Given the description of an element on the screen output the (x, y) to click on. 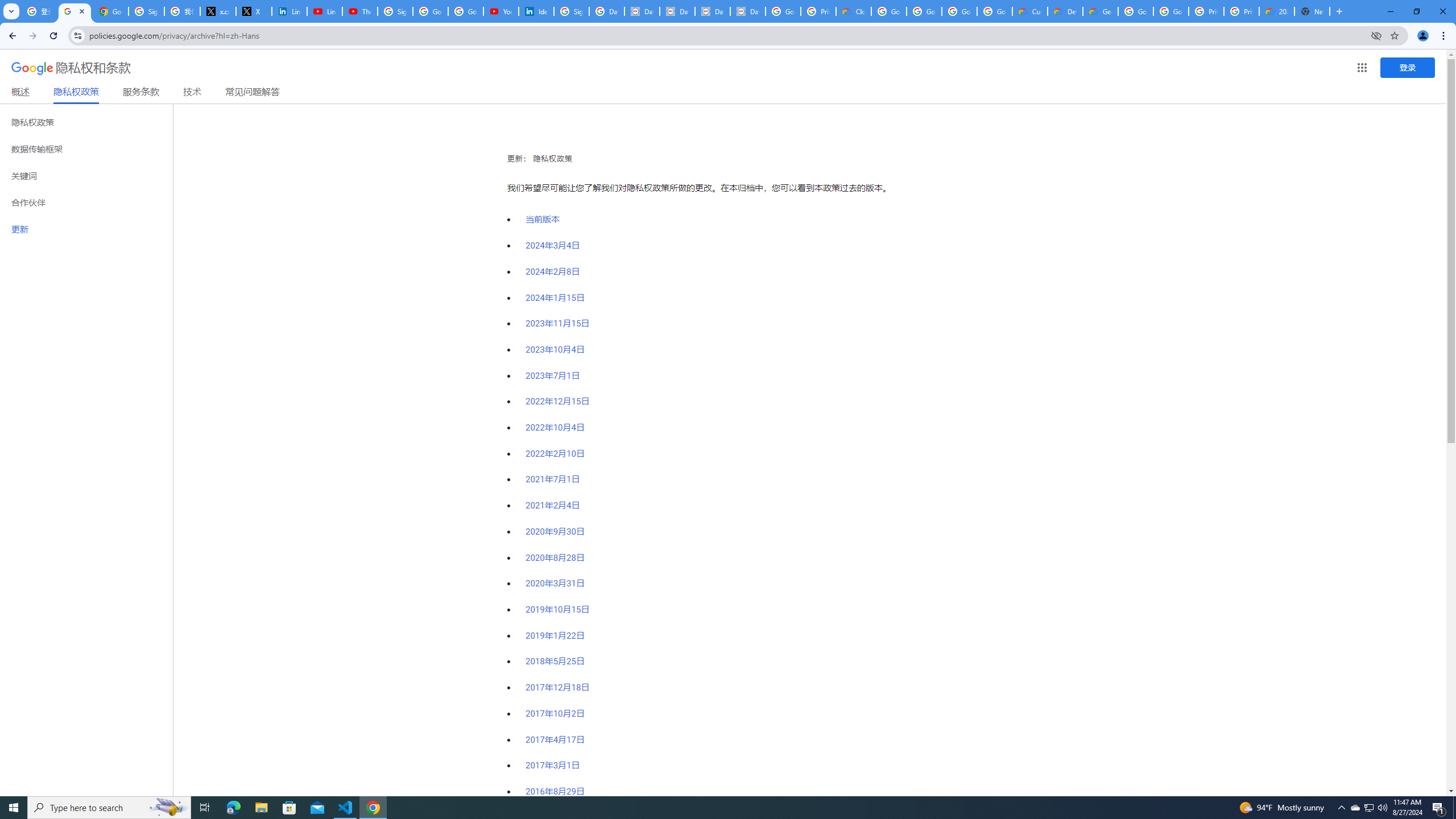
X (253, 11)
Google Workspace - Specific Terms (959, 11)
Sign in - Google Accounts (394, 11)
